Given the description of an element on the screen output the (x, y) to click on. 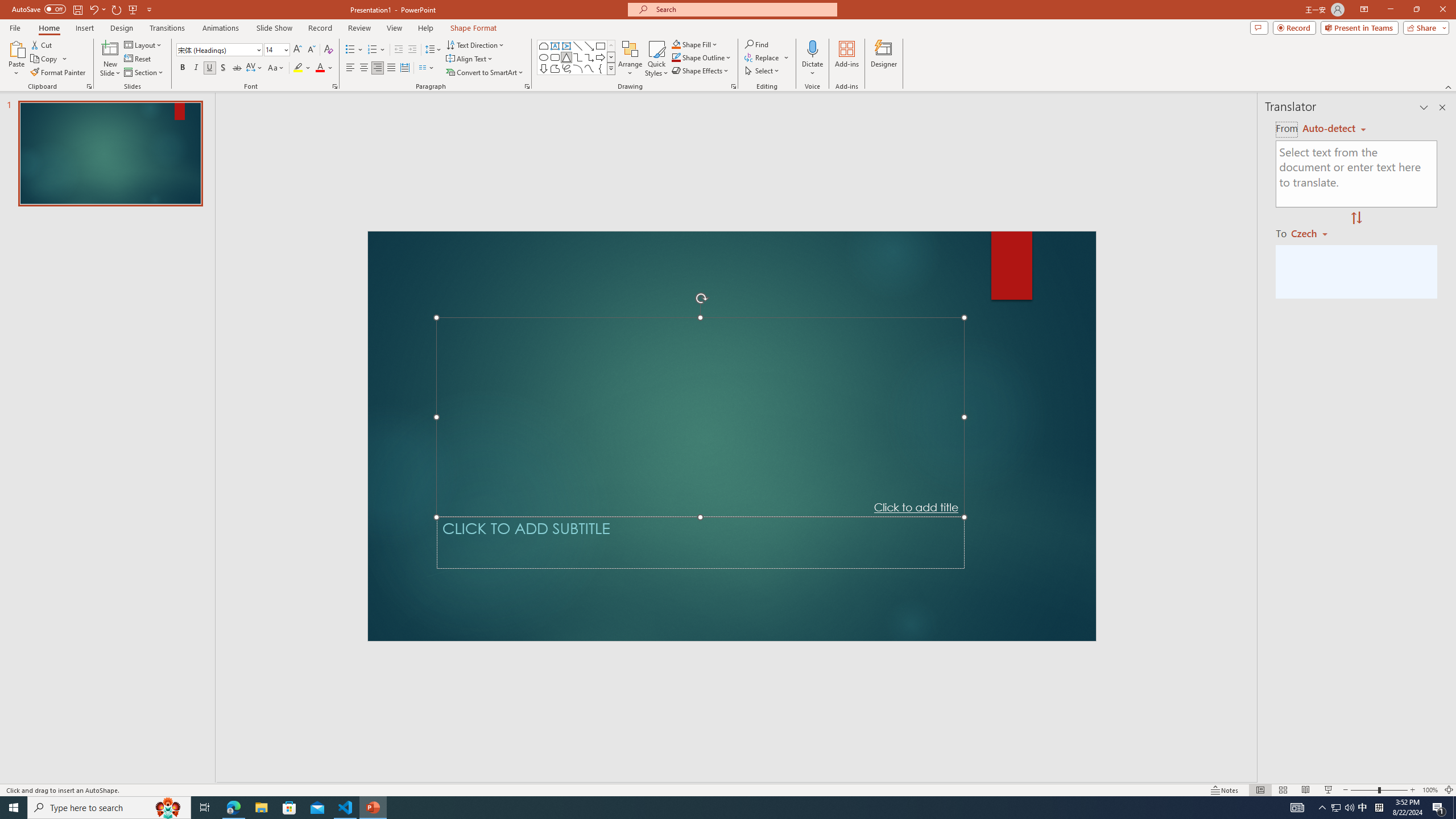
Shape Format (473, 28)
Title TextBox (699, 416)
